Given the description of an element on the screen output the (x, y) to click on. 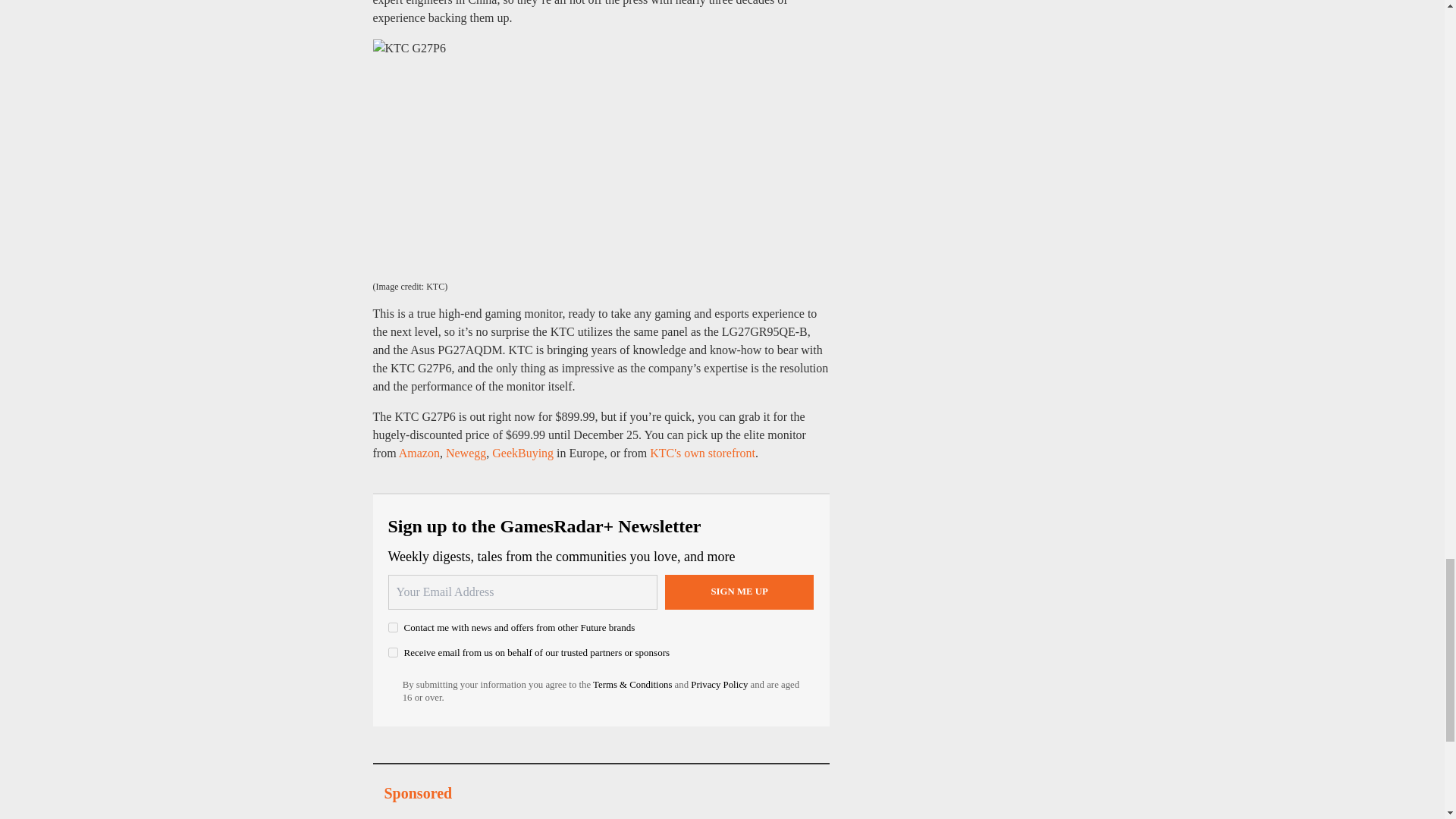
Sign me up (739, 591)
on (392, 652)
on (392, 627)
